Given the description of an element on the screen output the (x, y) to click on. 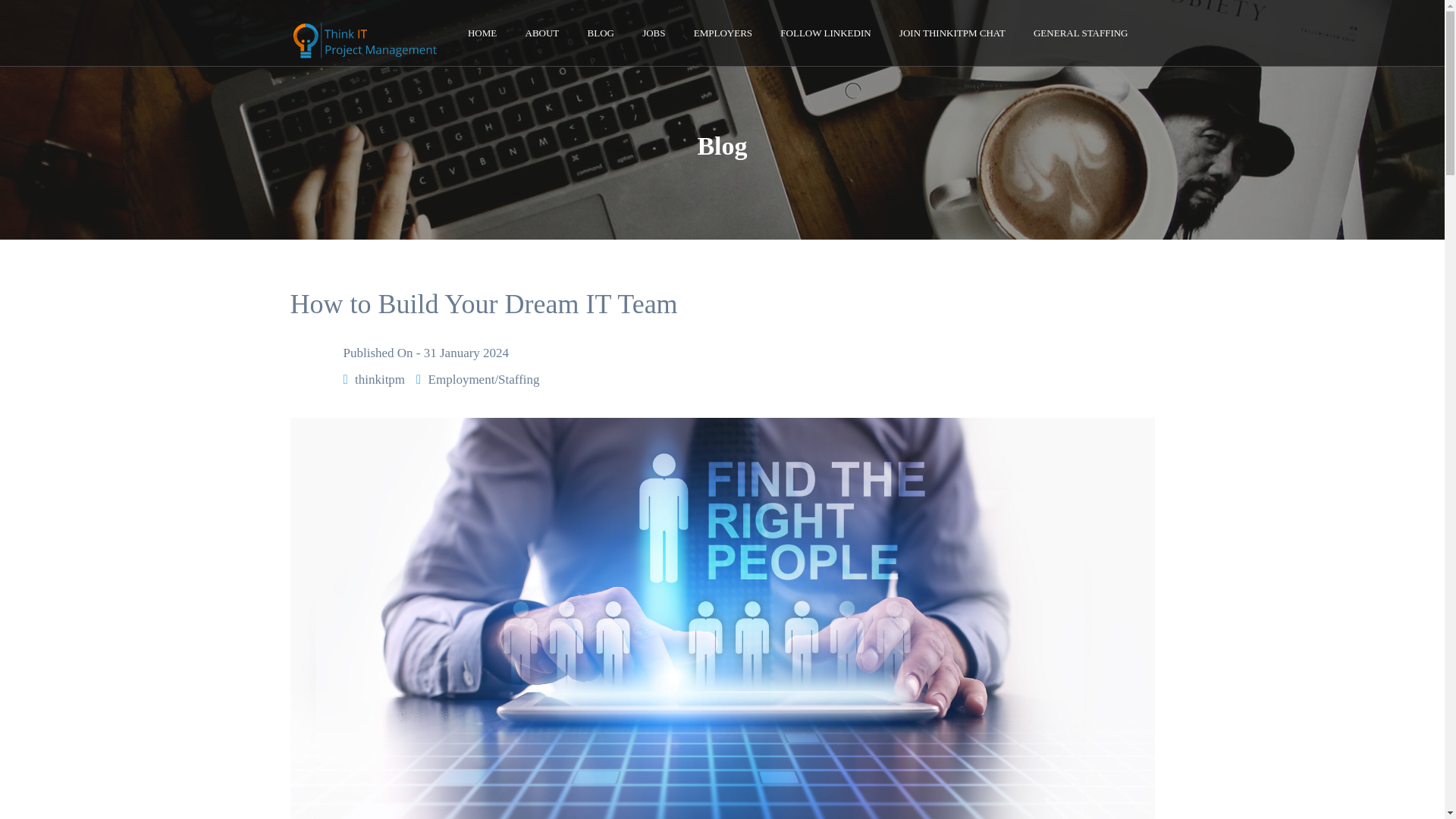
FOLLOW LINKEDIN (825, 33)
thinkitpm (379, 379)
GENERAL STAFFING (1080, 33)
JOIN THINKITPM CHAT (952, 33)
31 January 2024 (465, 352)
